Given the description of an element on the screen output the (x, y) to click on. 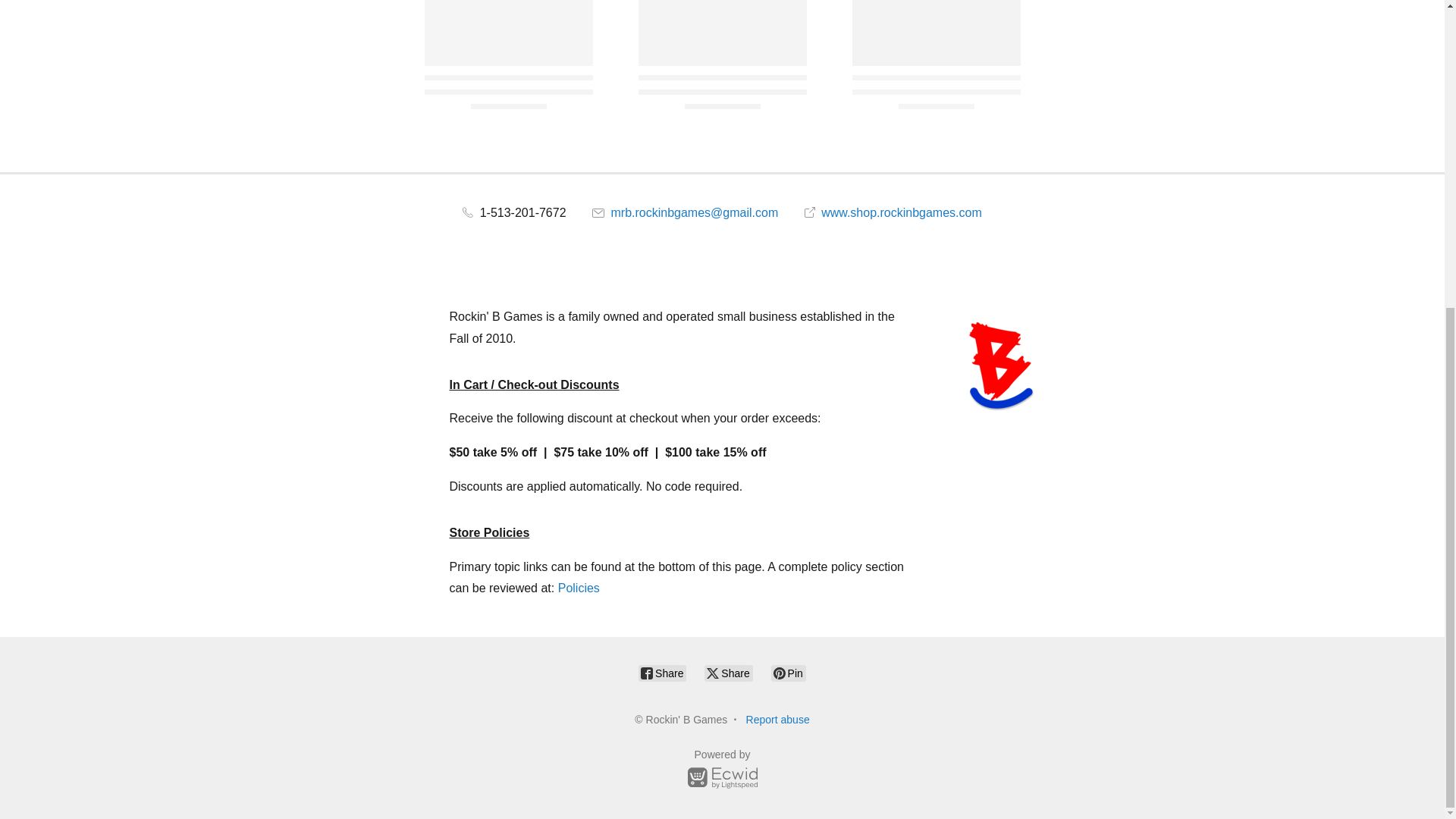
Share (728, 673)
Share (662, 673)
Pin (788, 673)
Policies (578, 587)
Report abuse (777, 719)
1-513-201-7672 (514, 212)
www.shop.rockinbgames.com (893, 212)
Powered by (722, 771)
